Given the description of an element on the screen output the (x, y) to click on. 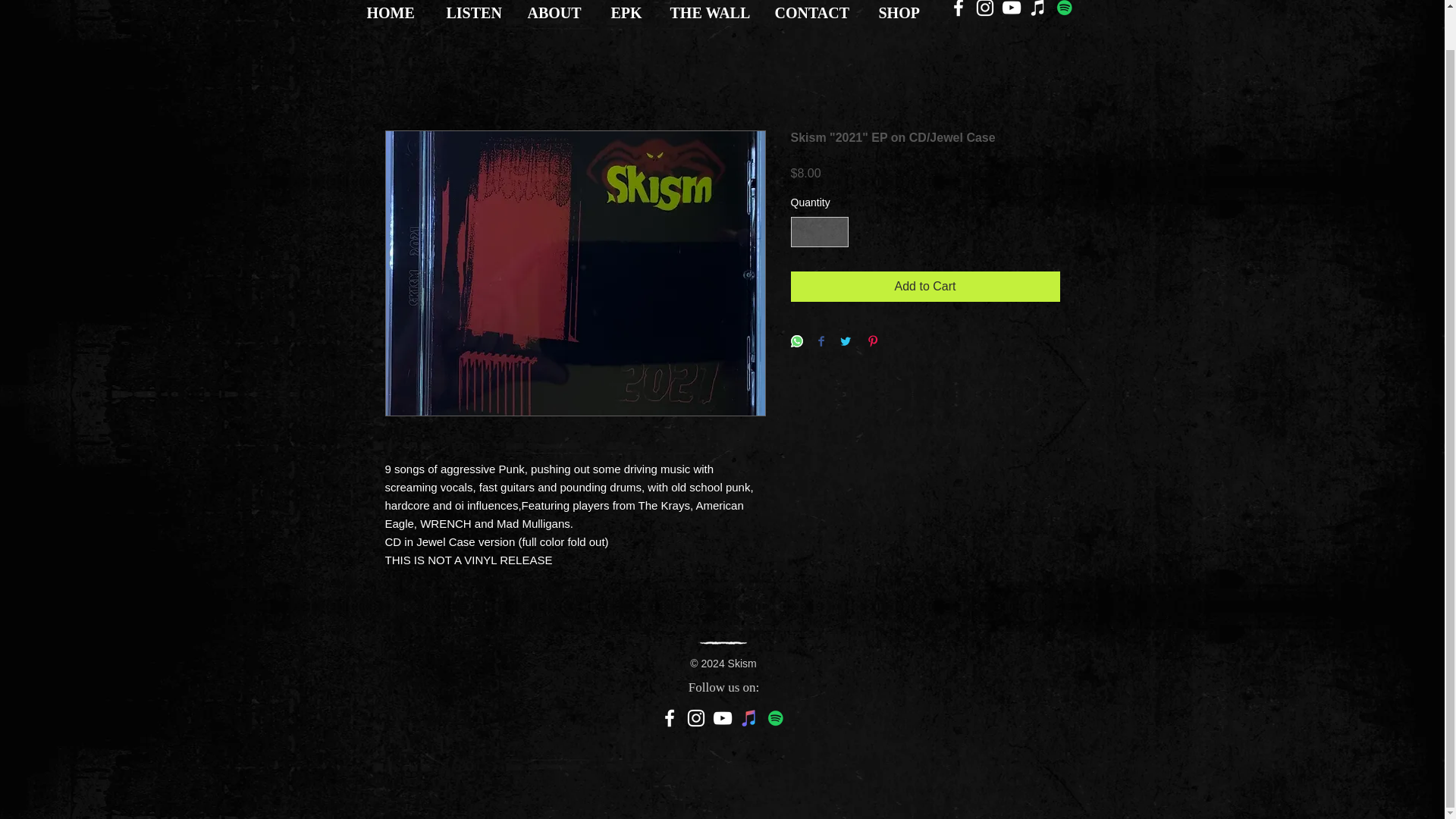
ABOUT (556, 12)
HOME (394, 12)
EPK (628, 12)
Add to Cart (924, 286)
LISTEN (475, 12)
CONTACT (814, 12)
SHOP (903, 12)
THE WALL (710, 12)
1 (818, 232)
